Given the description of an element on the screen output the (x, y) to click on. 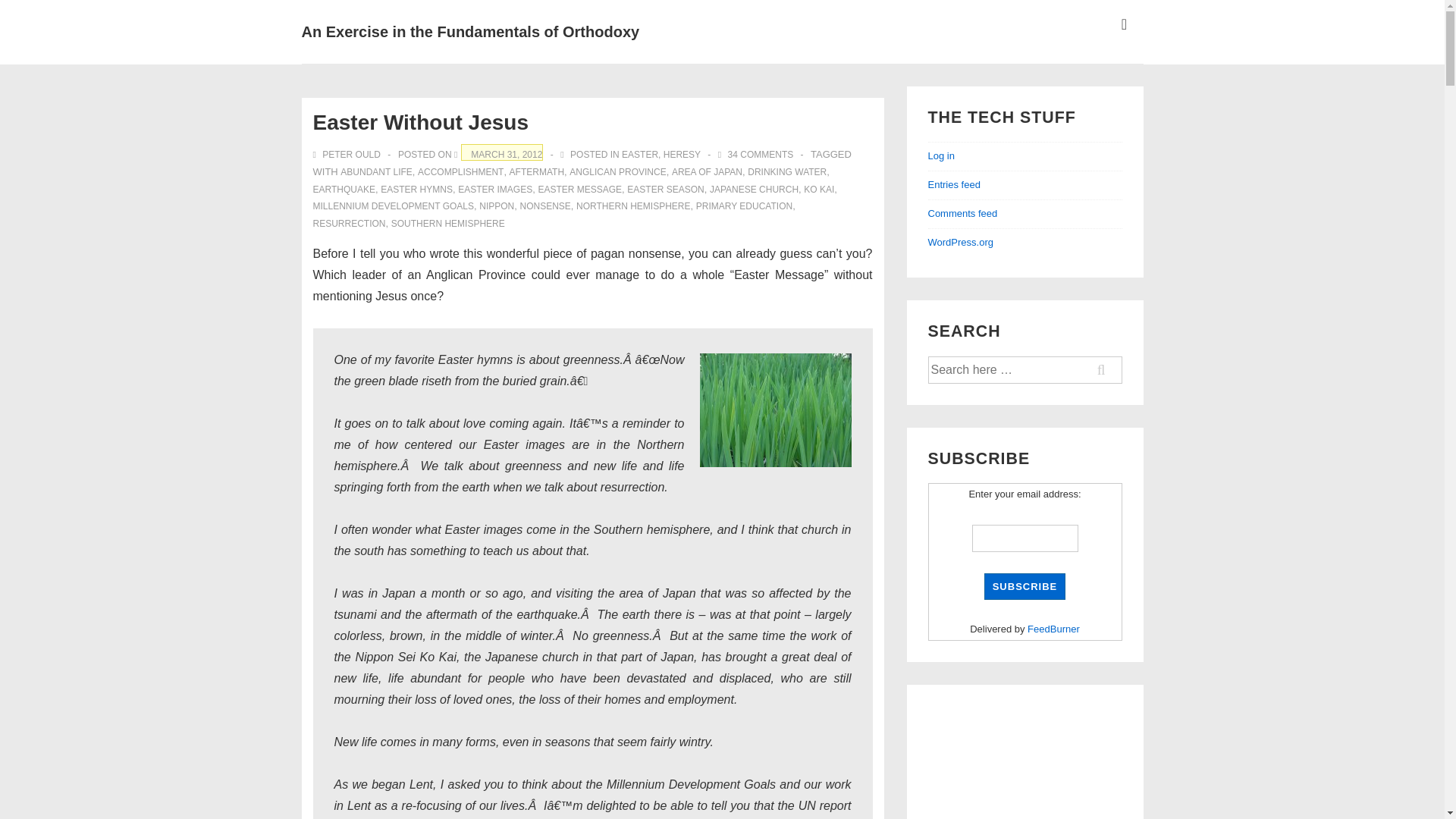
View all posts by Peter Ould (347, 154)
ABUNDANT LIFE (376, 172)
JAPANESE CHURCH (753, 188)
AFTERMATH (536, 172)
AREA OF JAPAN (706, 172)
SOUTHERN HEMISPHERE (448, 223)
34 COMMENTS (760, 154)
HERESY (681, 154)
RESURRECTION (349, 223)
EASTER HYMNS (416, 188)
